Given the description of an element on the screen output the (x, y) to click on. 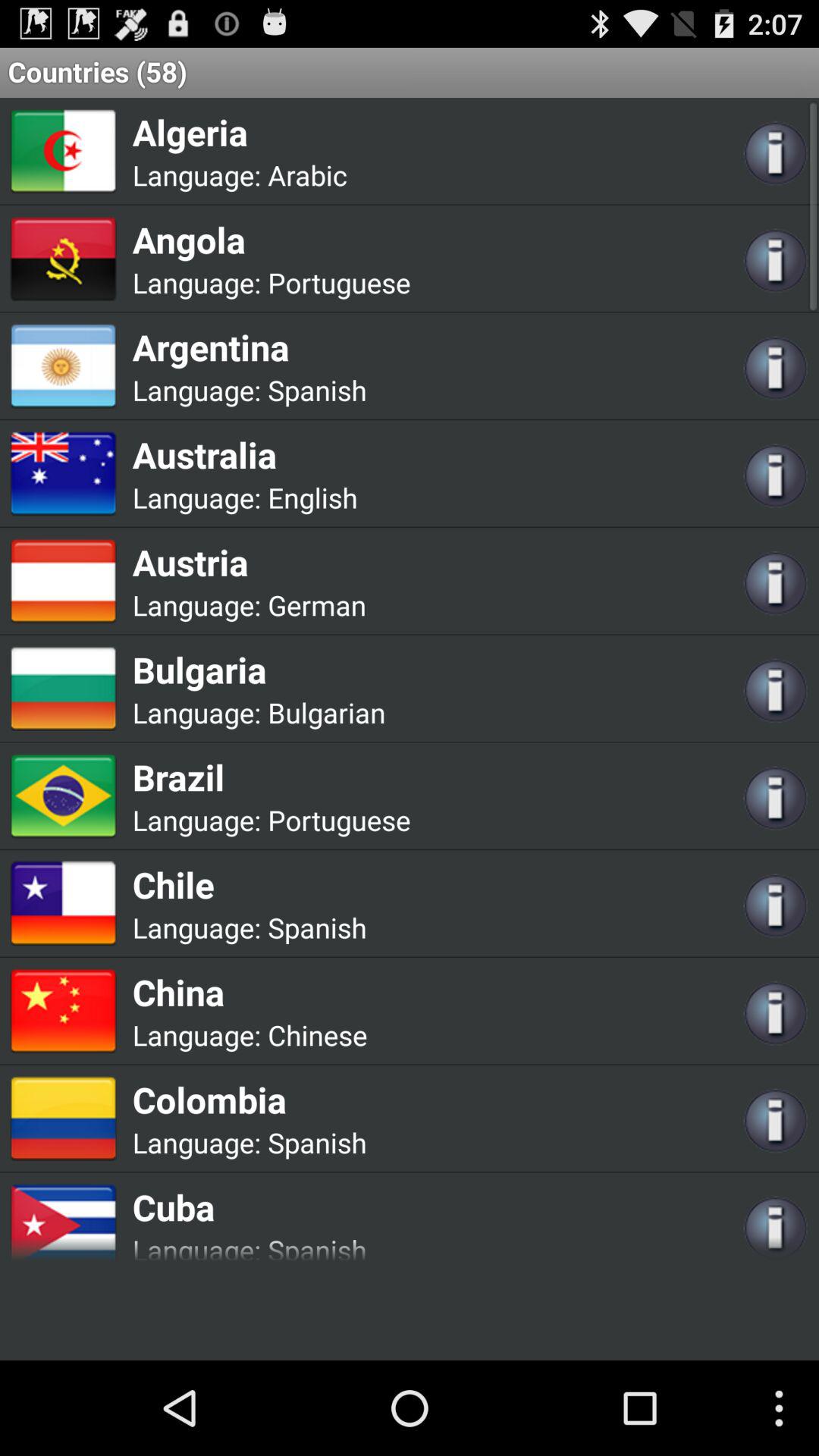
select app next to language: (312, 497)
